Given the description of an element on the screen output the (x, y) to click on. 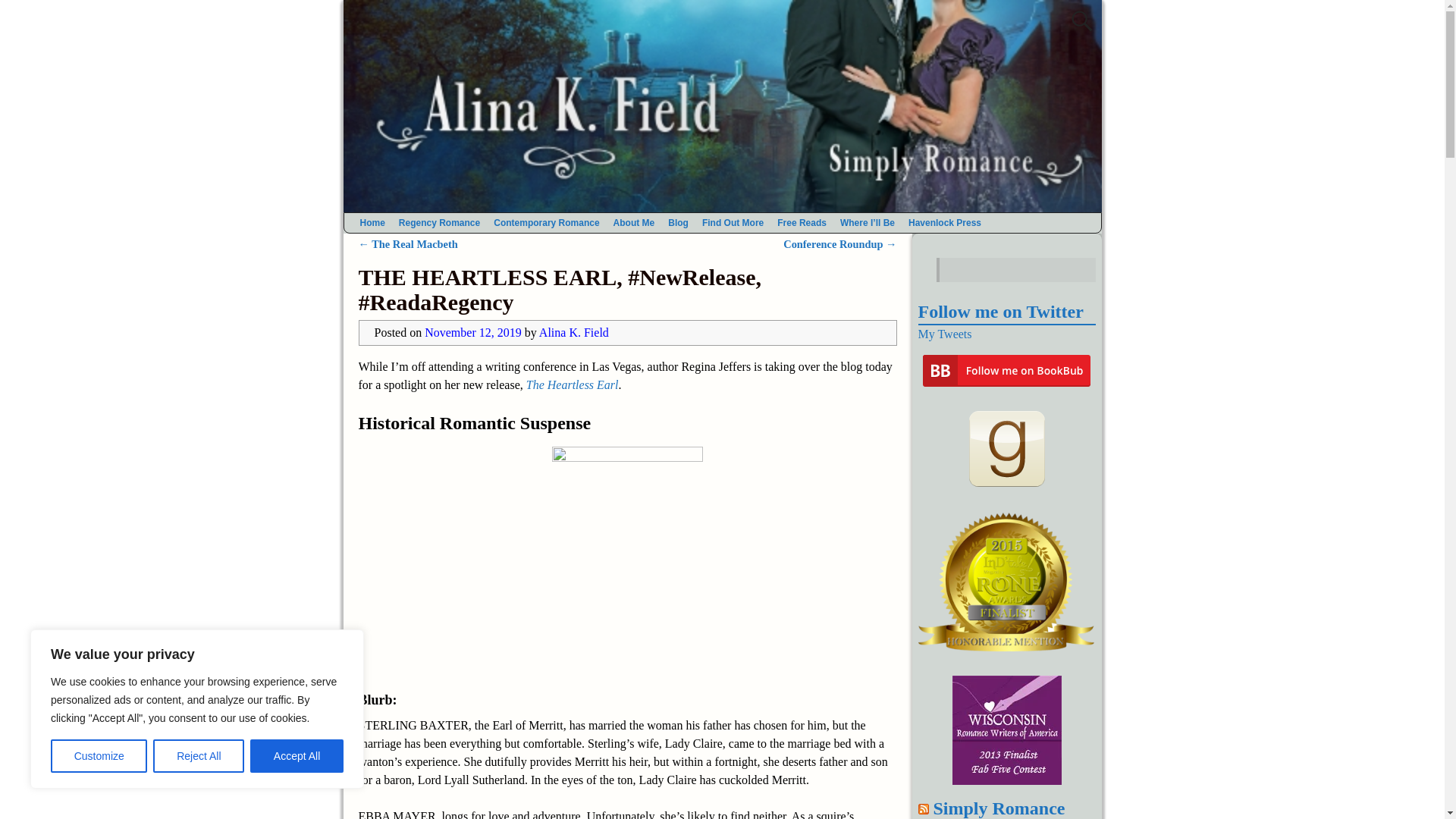
The Heartless Earl (571, 384)
About Me (634, 222)
Customize (98, 756)
View all posts by Alina K. Field (573, 332)
Reject All (198, 756)
Regency Romance (438, 222)
Alina K. Field (573, 332)
Blog (678, 222)
Find Out More (732, 222)
November 12, 2019 (473, 332)
1:00 am (473, 332)
Free Reads (801, 222)
Contemporary Romance (545, 222)
Havenlock Press (944, 222)
Home (372, 222)
